Given the description of an element on the screen output the (x, y) to click on. 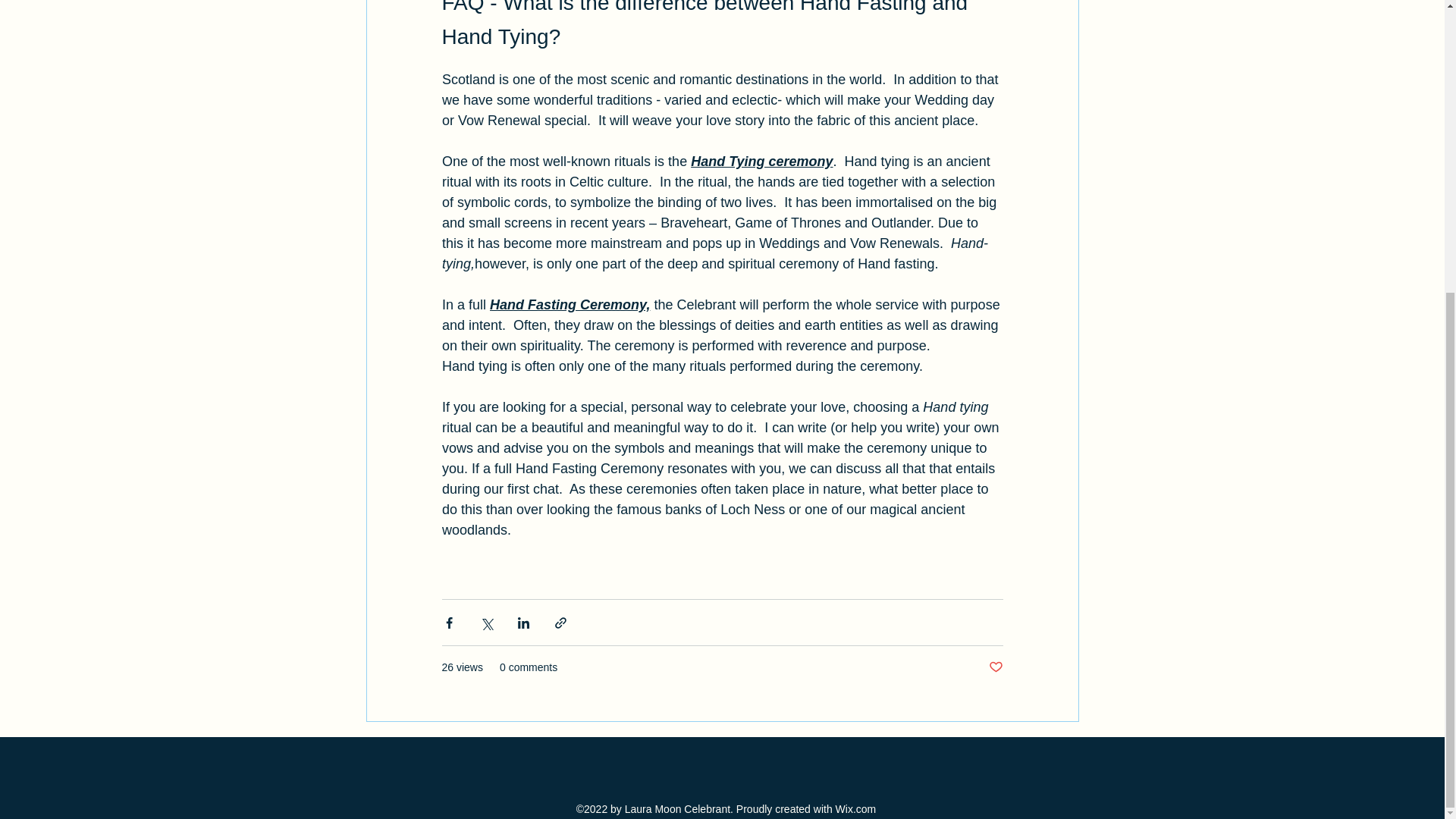
Post not marked as liked (995, 667)
